Given the description of an element on the screen output the (x, y) to click on. 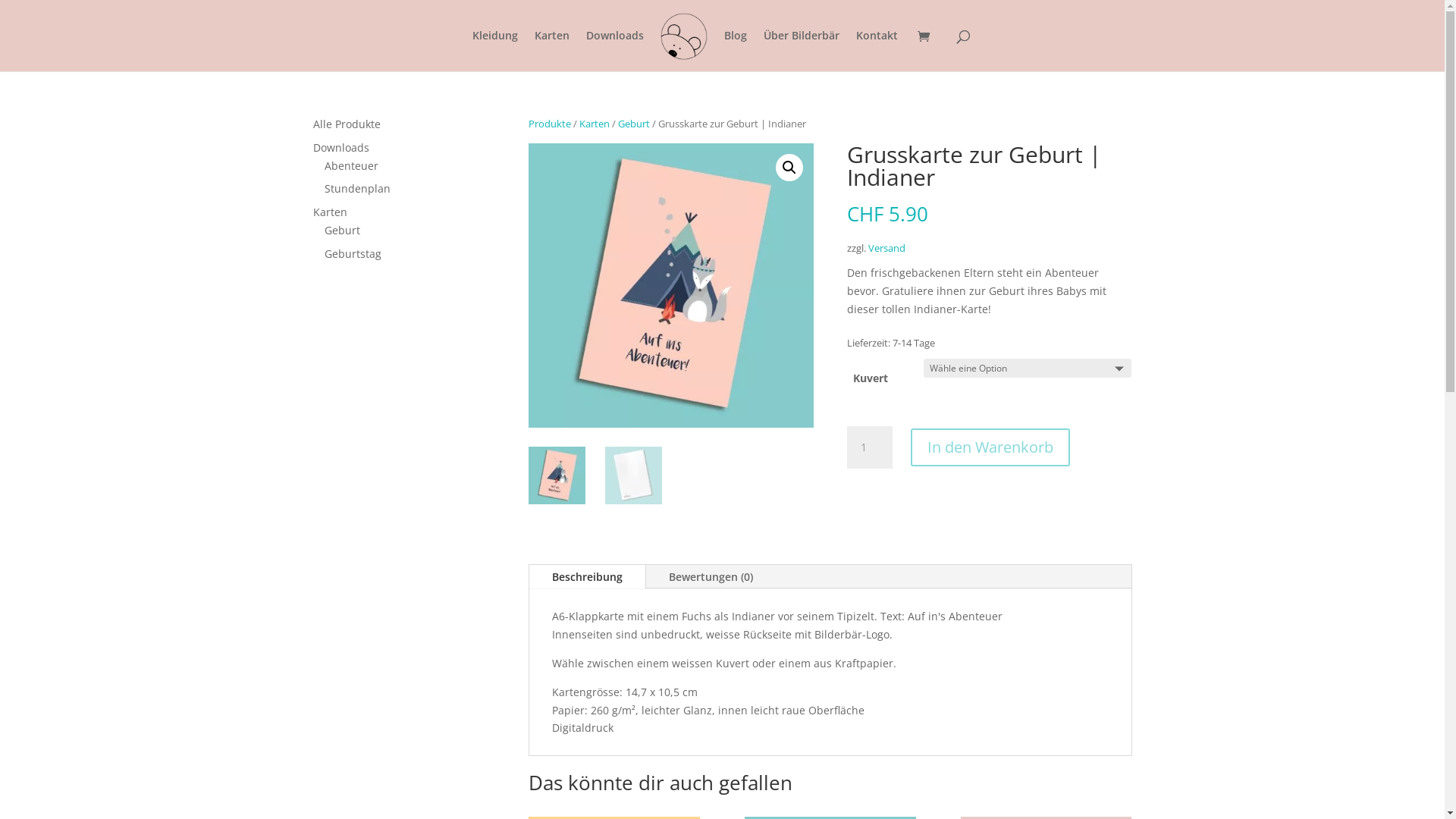
Abenteuer Element type: text (351, 165)
Geburt Element type: text (633, 123)
Kontakt Element type: text (876, 50)
Downloads Element type: text (340, 147)
Bewertungen (0) Element type: text (710, 576)
Versand Element type: text (886, 247)
In den Warenkorb Element type: text (990, 447)
Grusskarte_Rueckseite_blau Element type: hover (955, 285)
Grusskarte_Geburt_Indianer Element type: hover (670, 285)
Stundenplan Element type: text (357, 188)
Karten Element type: text (594, 123)
Karten Element type: text (551, 50)
Alle Produkte Element type: text (345, 123)
Kleidung Element type: text (494, 50)
Karten Element type: text (329, 211)
Geburtstag Element type: text (352, 253)
Geburt Element type: text (342, 229)
Produkte Element type: text (549, 123)
Beschreibung Element type: text (587, 576)
Downloads Element type: text (614, 50)
Blog Element type: text (735, 50)
